Given the description of an element on the screen output the (x, y) to click on. 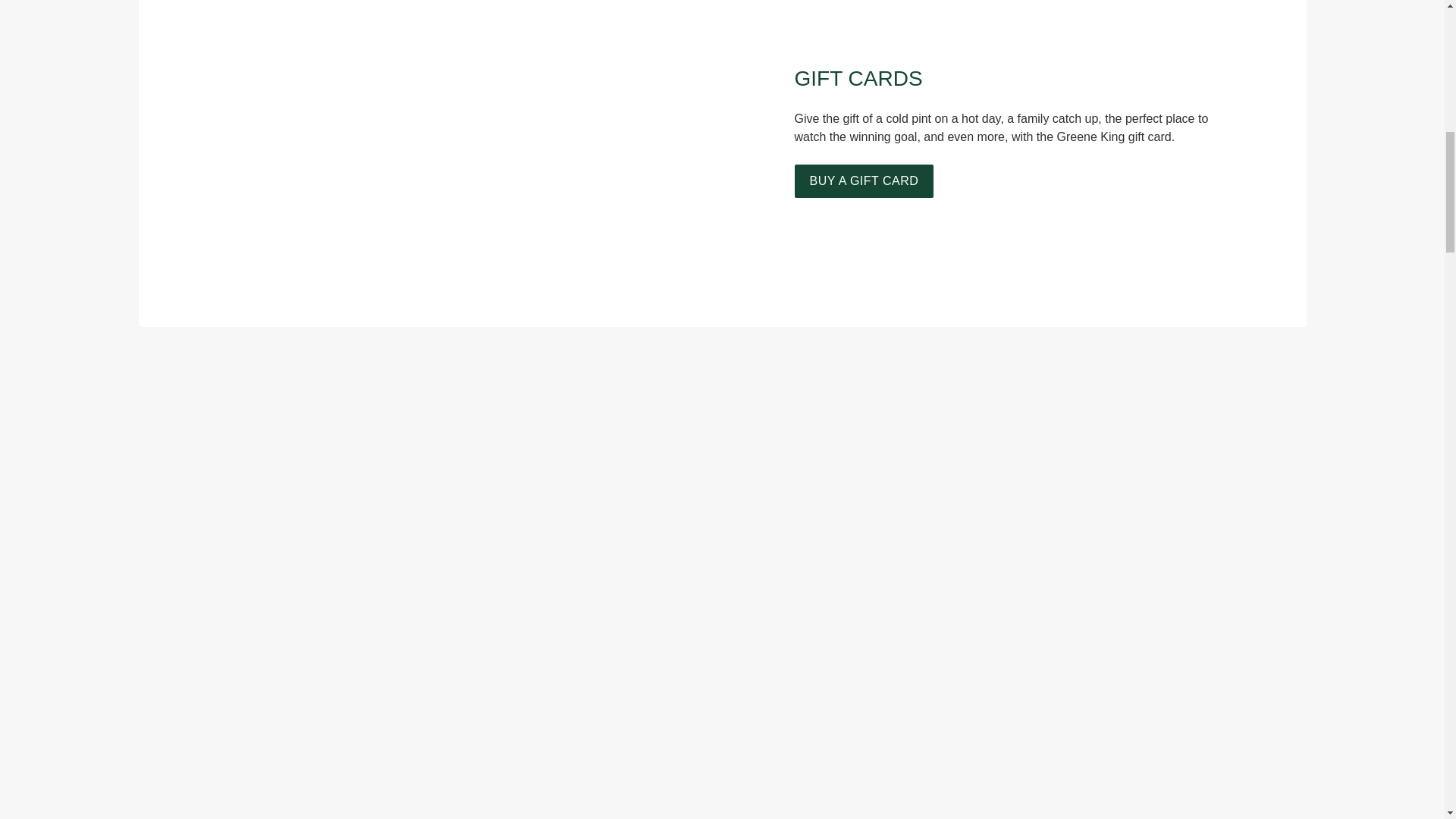
BUY A GIFT CARD (864, 181)
